Given the description of an element on the screen output the (x, y) to click on. 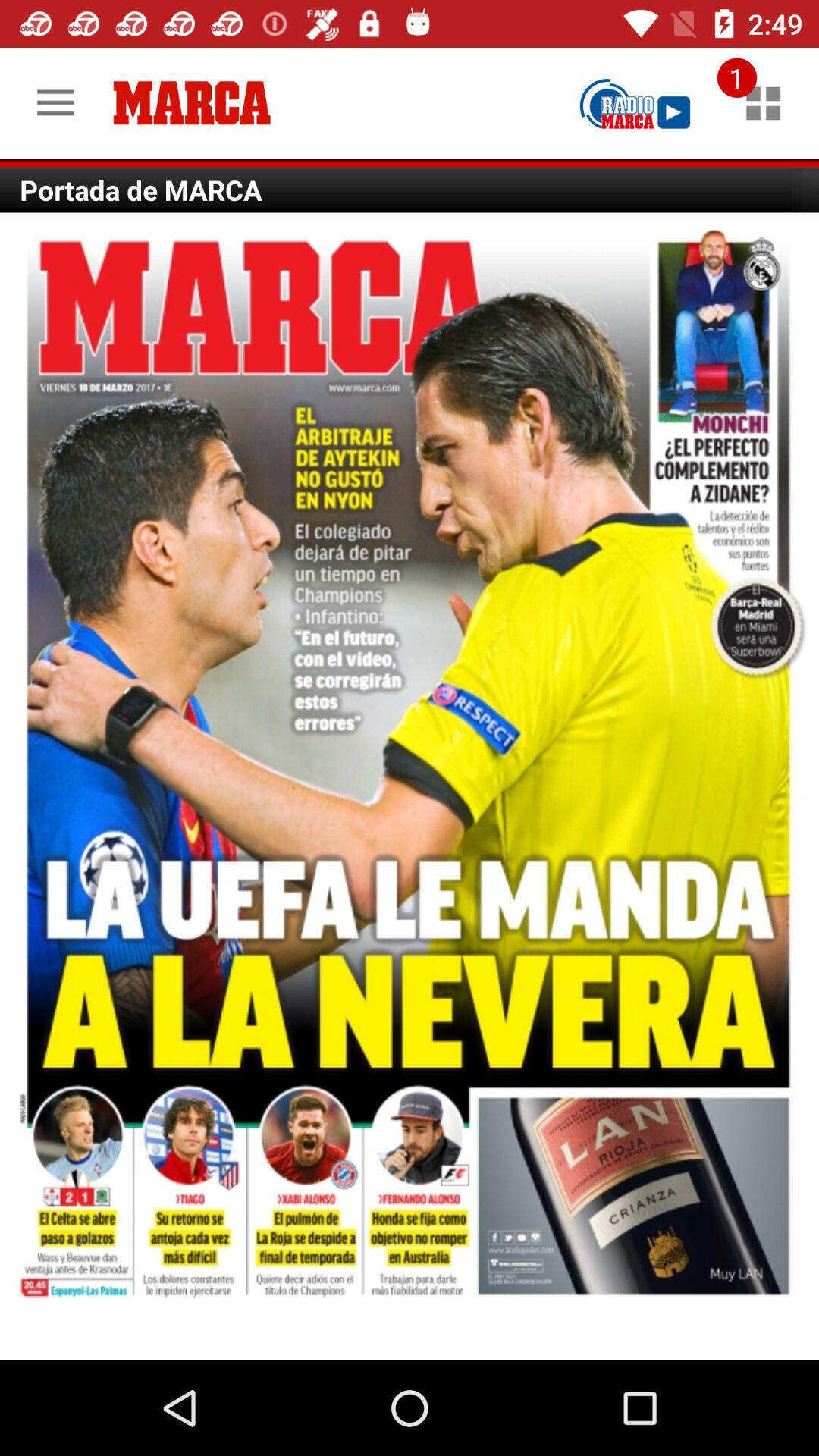
play (635, 103)
